Given the description of an element on the screen output the (x, y) to click on. 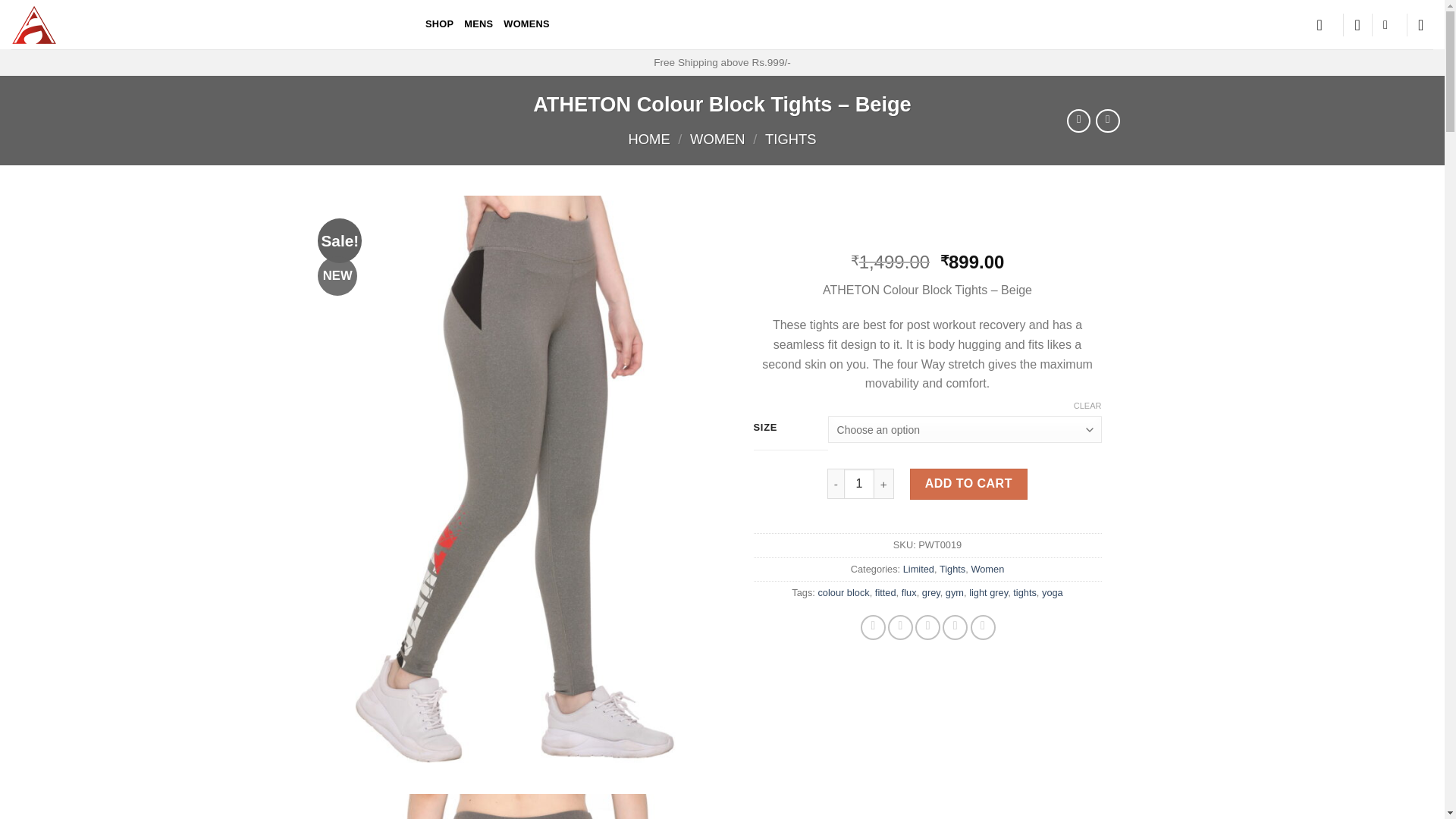
CLEAR (1086, 405)
HOME (648, 139)
Atheton - Promoting fitness (207, 24)
WOMEN (717, 139)
SHOP (438, 24)
Women (987, 568)
ADD TO CART (967, 484)
MENS (478, 24)
Qty (859, 484)
TIGHTS (790, 139)
